Given the description of an element on the screen output the (x, y) to click on. 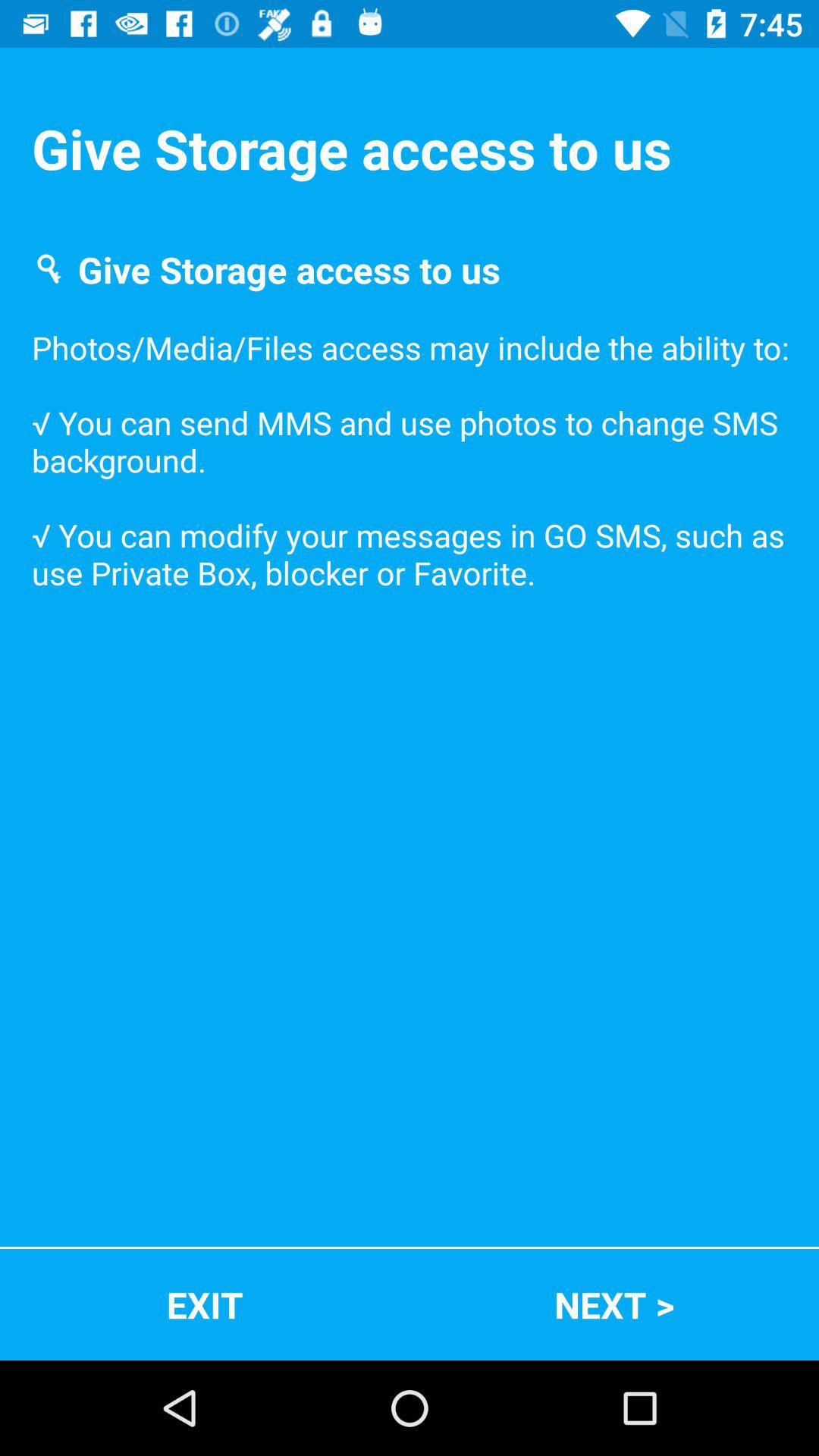
jump to exit icon (204, 1304)
